Given the description of an element on the screen output the (x, y) to click on. 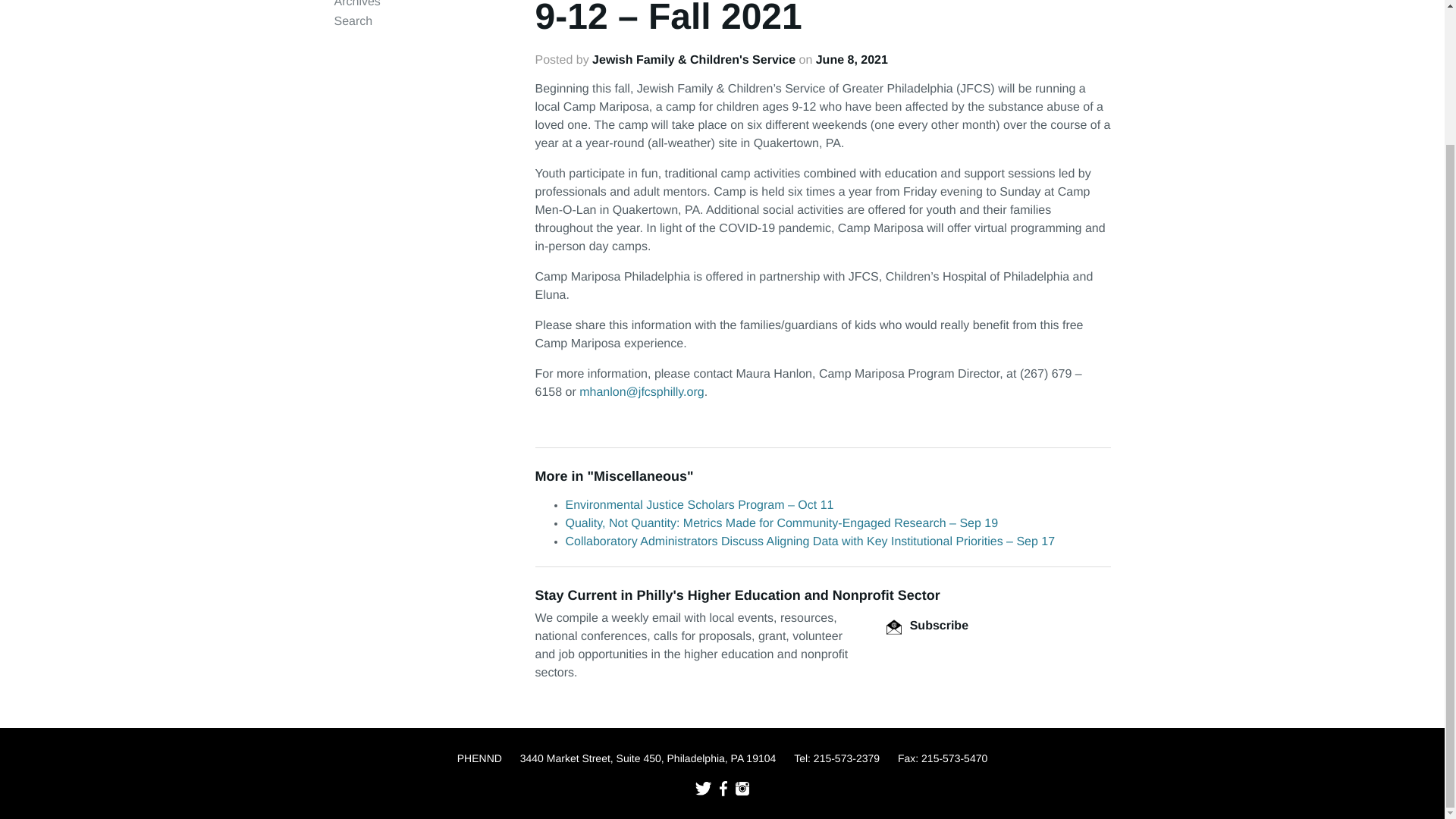
Subscribe (927, 625)
Search (352, 21)
Archives (356, 4)
June 8, 2021 (851, 60)
Miscellaneous (640, 476)
